Given the description of an element on the screen output the (x, y) to click on. 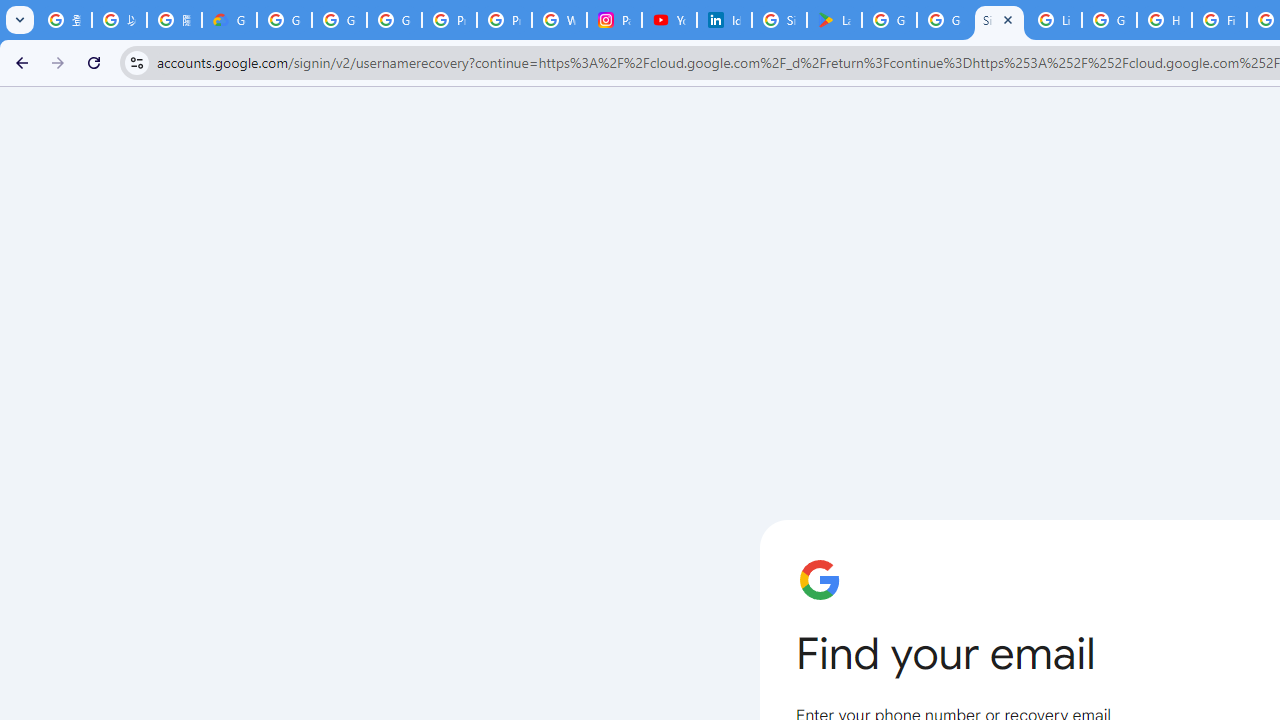
Sign in - Google Accounts (998, 20)
How do I create a new Google Account? - Google Account Help (1163, 20)
Sign in - Google Accounts (779, 20)
View site information (136, 62)
YouTube Culture & Trends - On The Rise: Handcam Videos (669, 20)
Close (1007, 19)
Identity verification via Persona | LinkedIn Help (724, 20)
Google Workspace - Specific Terms (943, 20)
Back (19, 62)
